Given the description of an element on the screen output the (x, y) to click on. 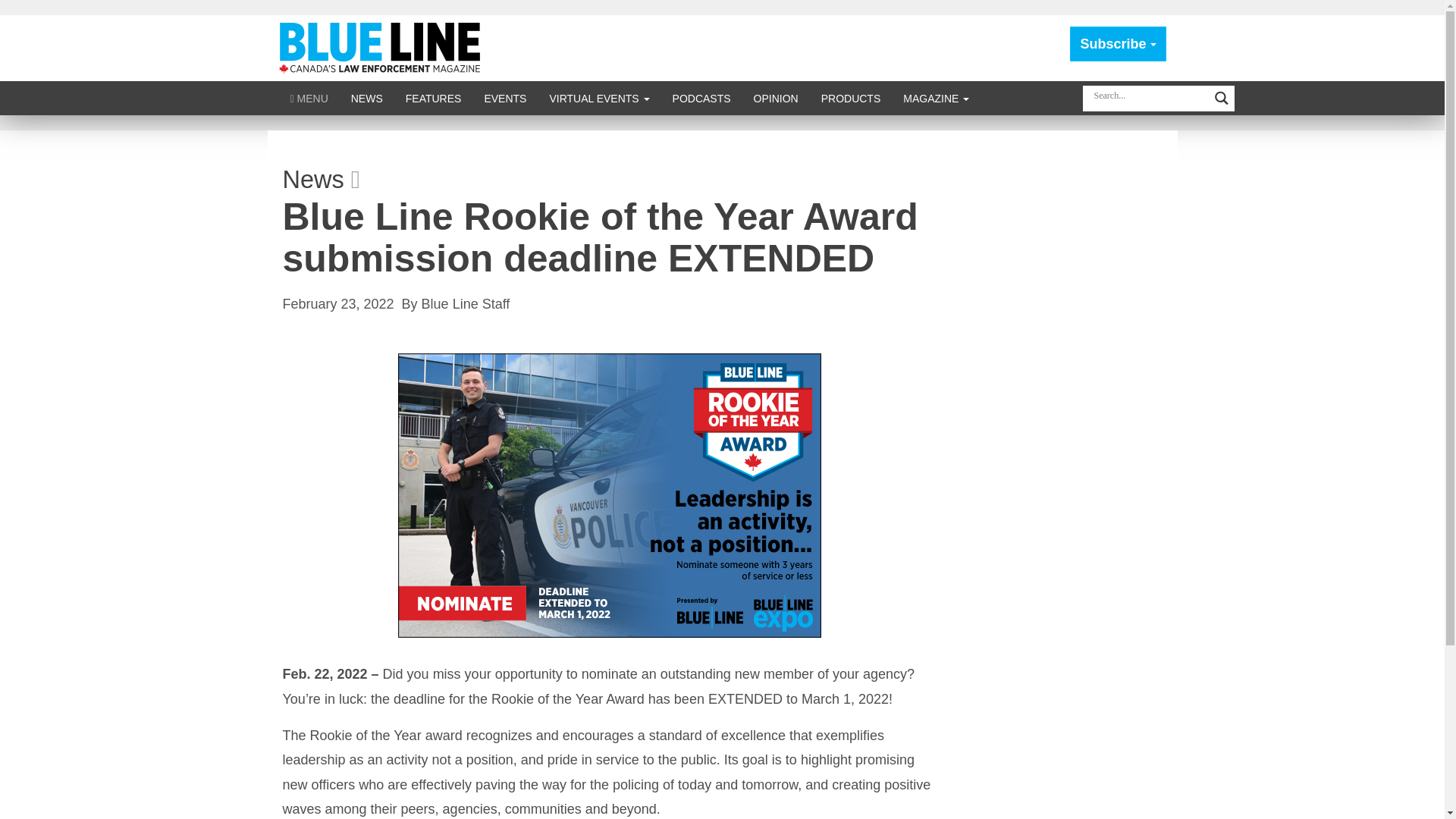
MAGAZINE (935, 98)
MENU (309, 98)
Subscribe (1118, 43)
Blue Line (381, 46)
EVENTS (504, 98)
NEWS (366, 98)
FEATURES (433, 98)
PODCASTS (701, 98)
Click to show site navigation (309, 98)
OPINION (775, 98)
